Given the description of an element on the screen output the (x, y) to click on. 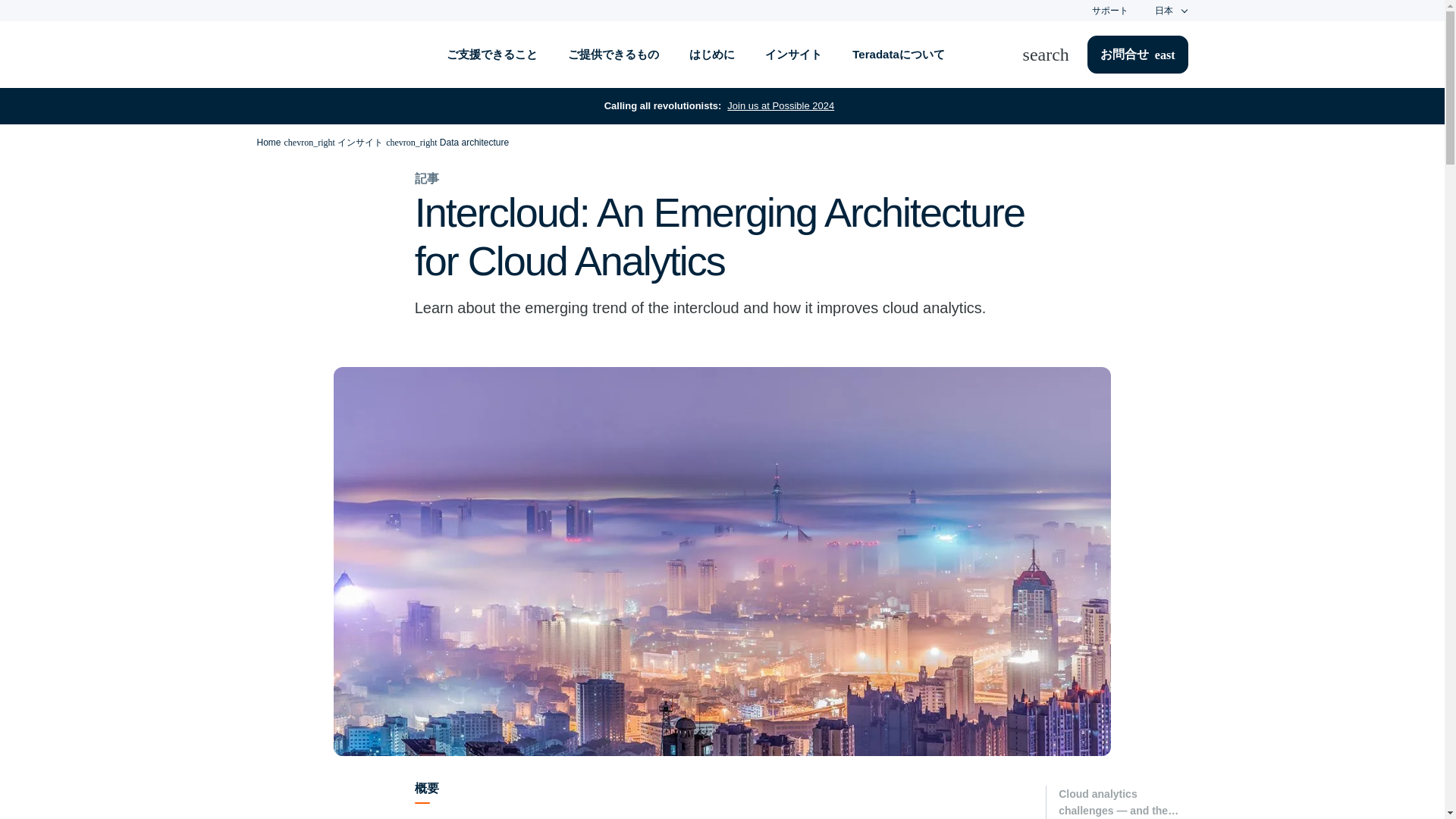
search (1055, 54)
